Given the description of an element on the screen output the (x, y) to click on. 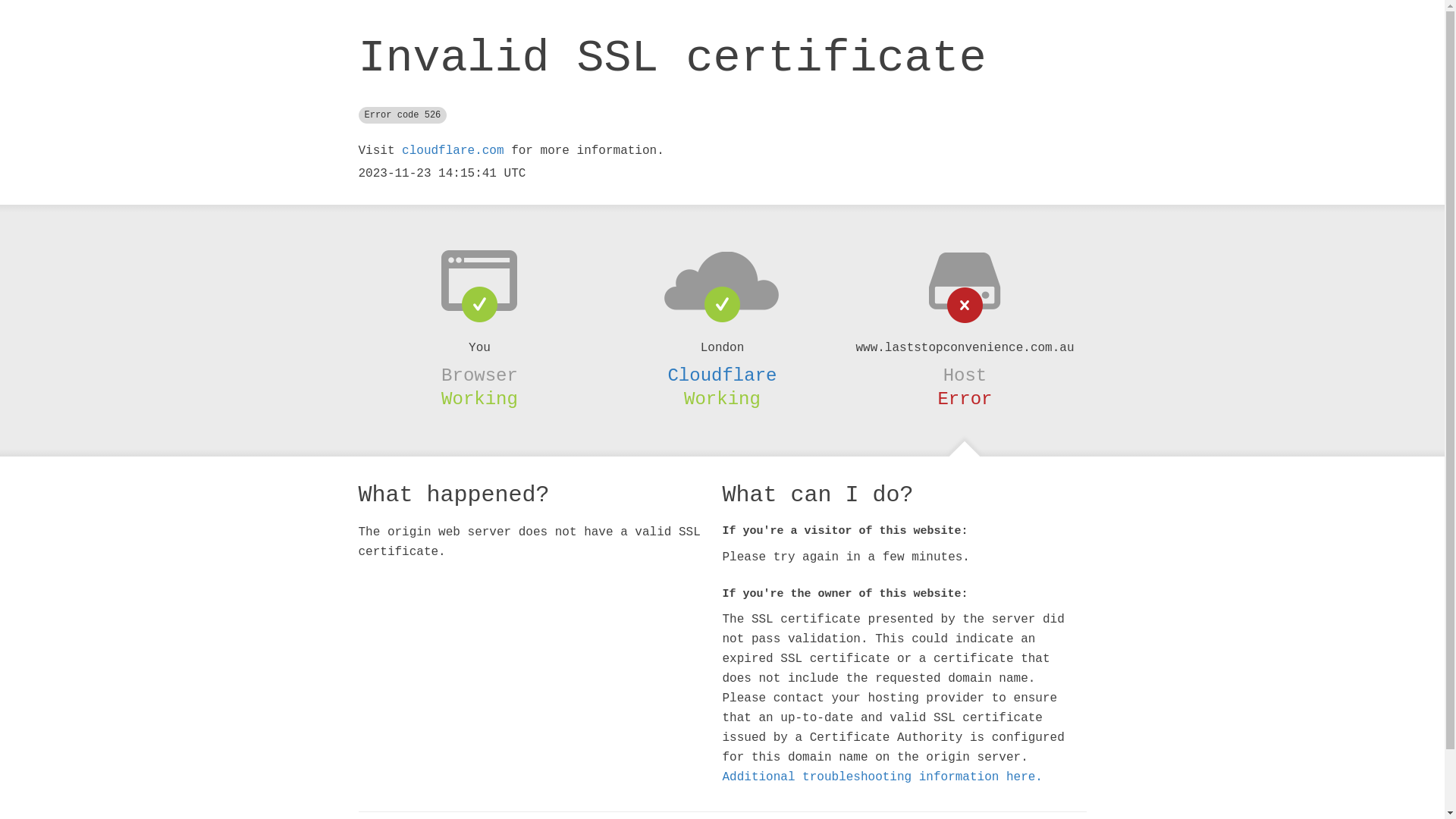
Additional troubleshooting information here. Element type: text (881, 777)
Cloudflare Element type: text (721, 375)
cloudflare.com Element type: text (452, 150)
